Given the description of an element on the screen output the (x, y) to click on. 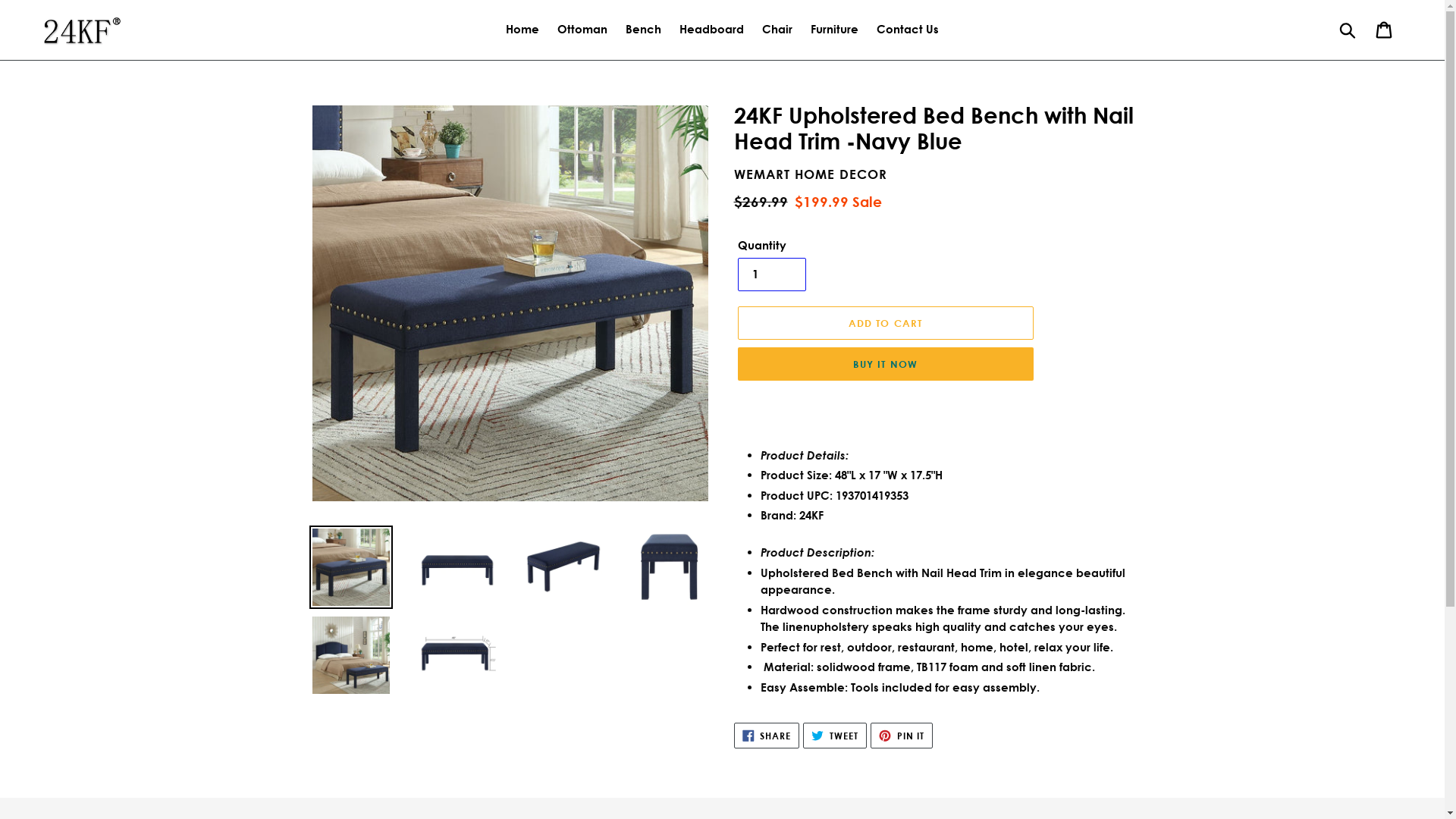
Submit Element type: text (1348, 29)
Bench Element type: text (643, 29)
Contact Us Element type: text (907, 29)
Ottoman Element type: text (582, 29)
Headboard Element type: text (711, 29)
ADD TO CART Element type: text (884, 322)
Chair Element type: text (777, 29)
SHARE
SHARE ON FACEBOOK Element type: text (767, 735)
PIN IT
PIN ON PINTEREST Element type: text (901, 735)
TWEET
TWEET ON TWITTER Element type: text (834, 735)
Home Element type: text (522, 29)
Furniture Element type: text (834, 29)
Cart Element type: text (1384, 29)
BUY IT NOW Element type: text (884, 363)
